Given the description of an element on the screen output the (x, y) to click on. 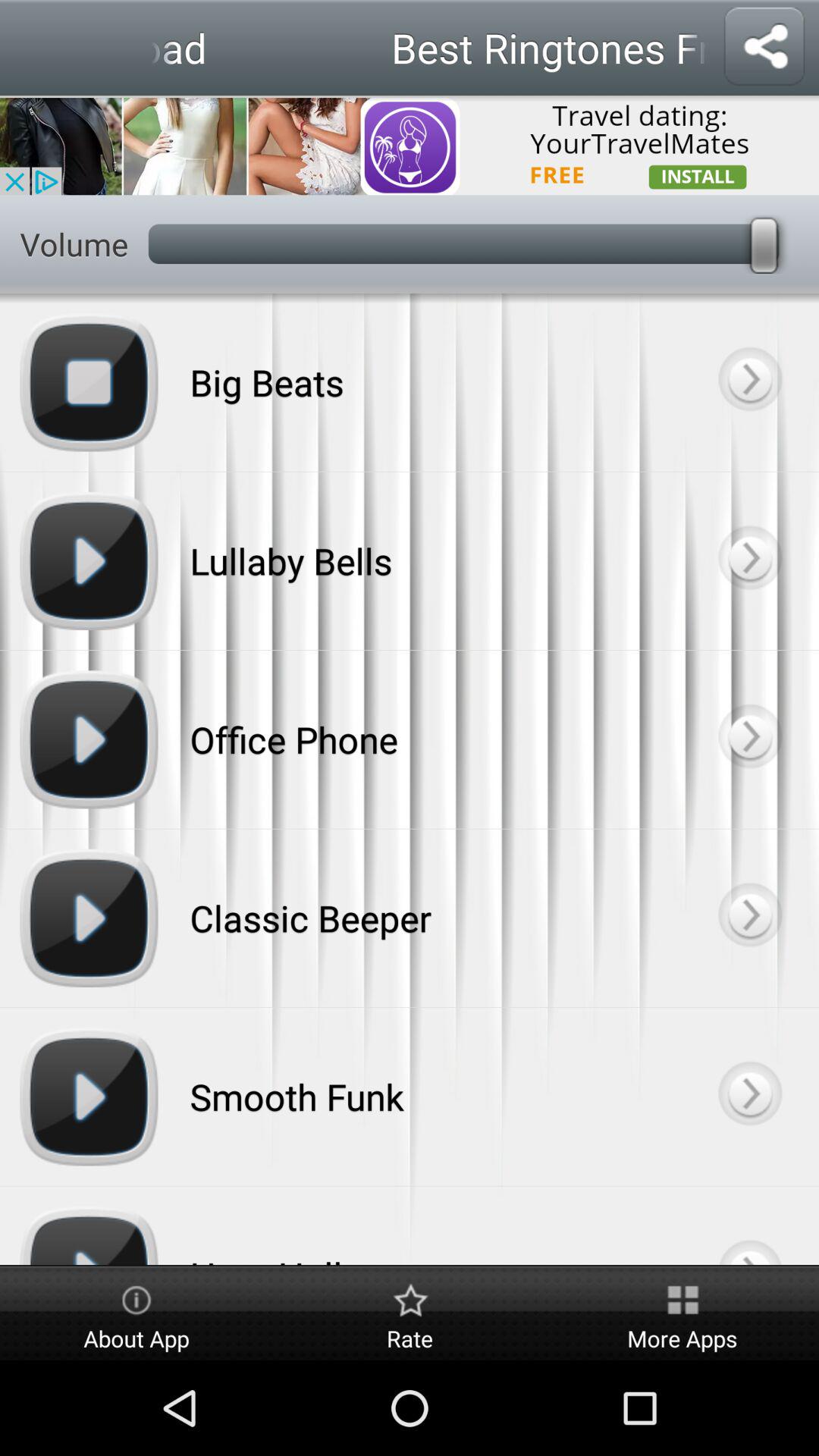
open the share menu (764, 47)
